Given the description of an element on the screen output the (x, y) to click on. 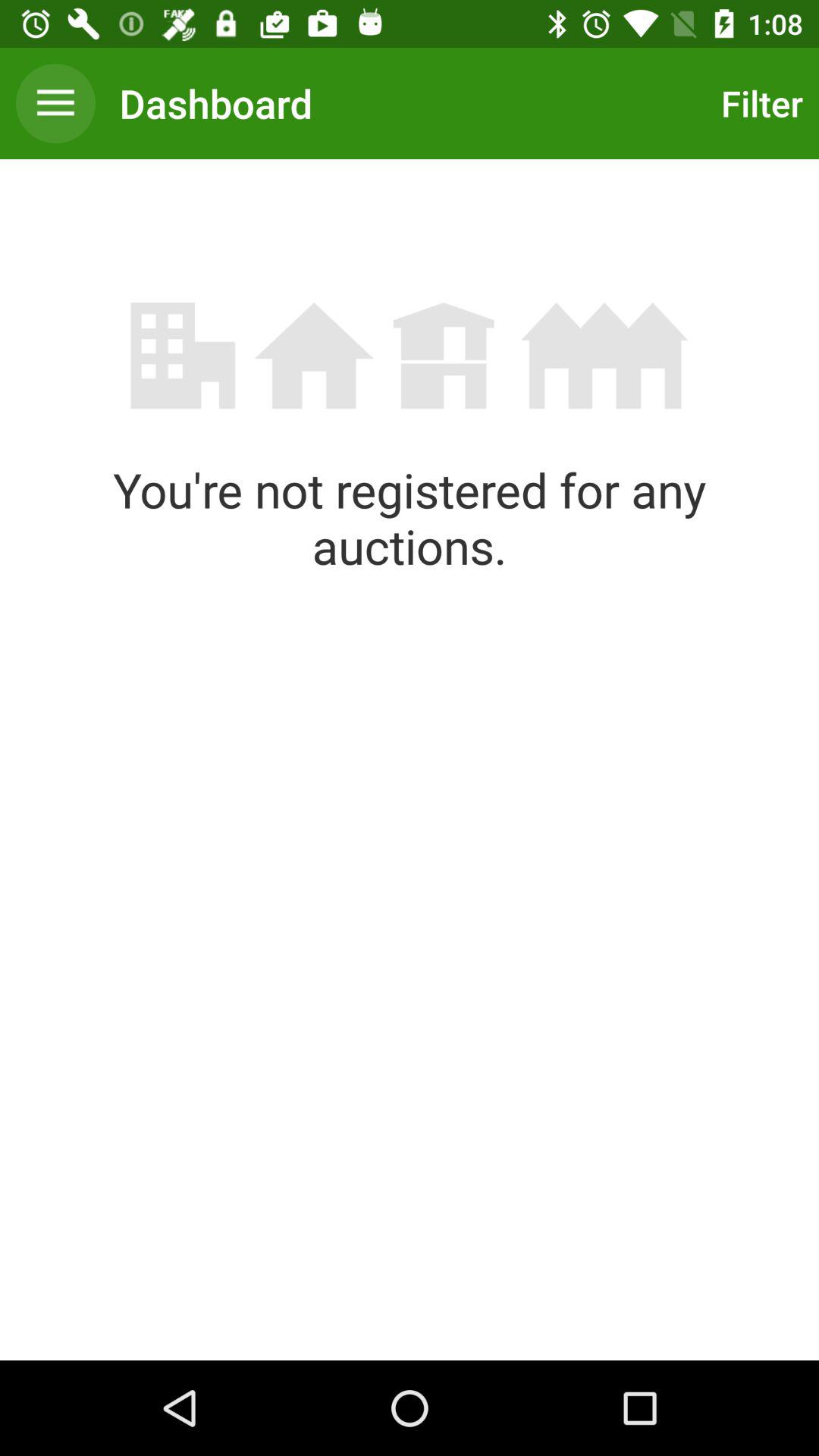
choose the icon at the top right corner (758, 103)
